Given the description of an element on the screen output the (x, y) to click on. 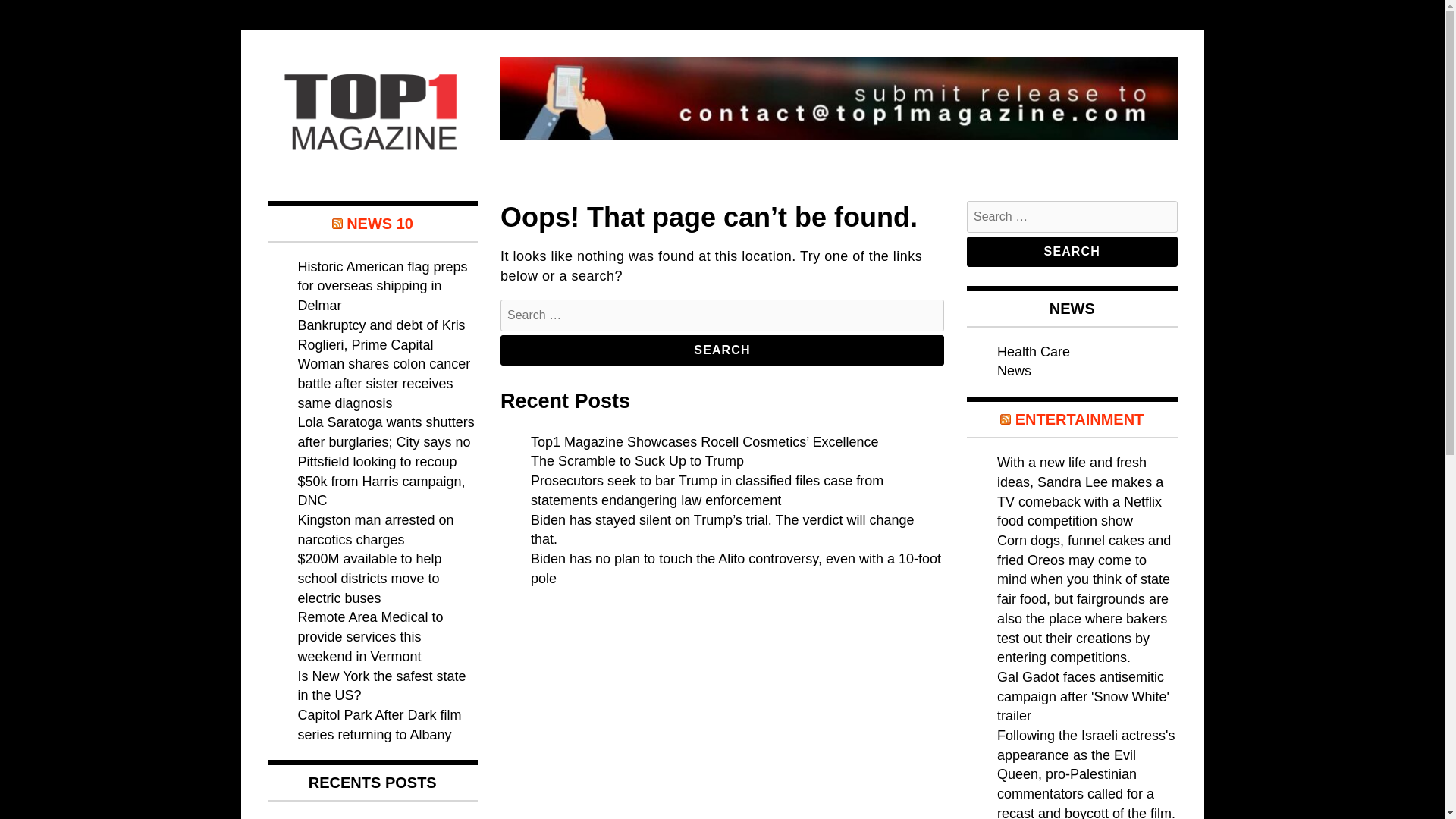
Capitol Park After Dark film series returning to Albany (379, 724)
Is New York the safest state in the US? (381, 686)
Search (1071, 251)
Search (1071, 251)
NEWS 10 (379, 223)
Search (721, 349)
Health Care (1033, 351)
Search (721, 349)
